Given the description of an element on the screen output the (x, y) to click on. 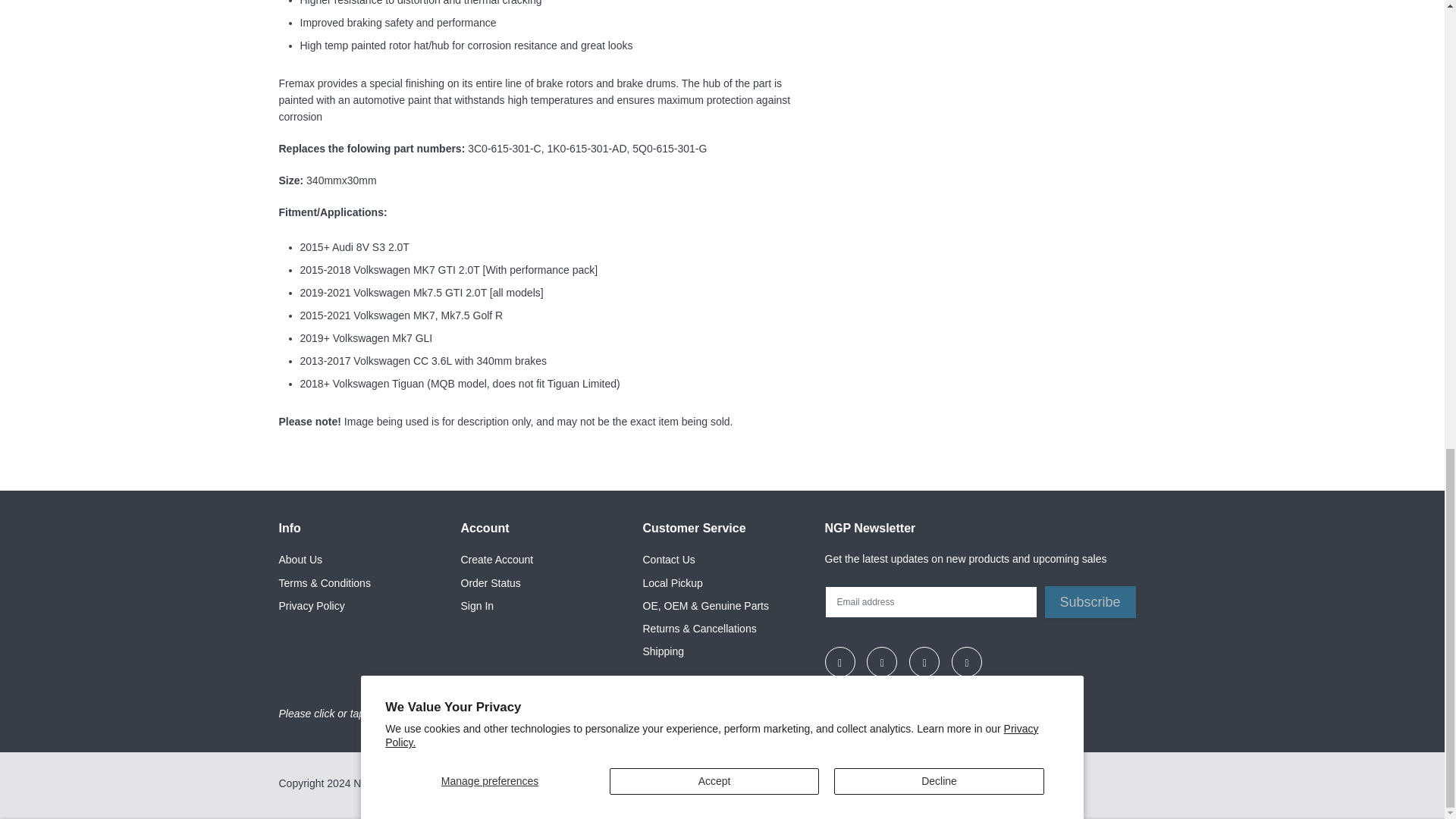
Facebook (881, 662)
Twitter (923, 662)
Subscribe (1090, 602)
YouTube (966, 662)
Instagram (840, 662)
